Given the description of an element on the screen output the (x, y) to click on. 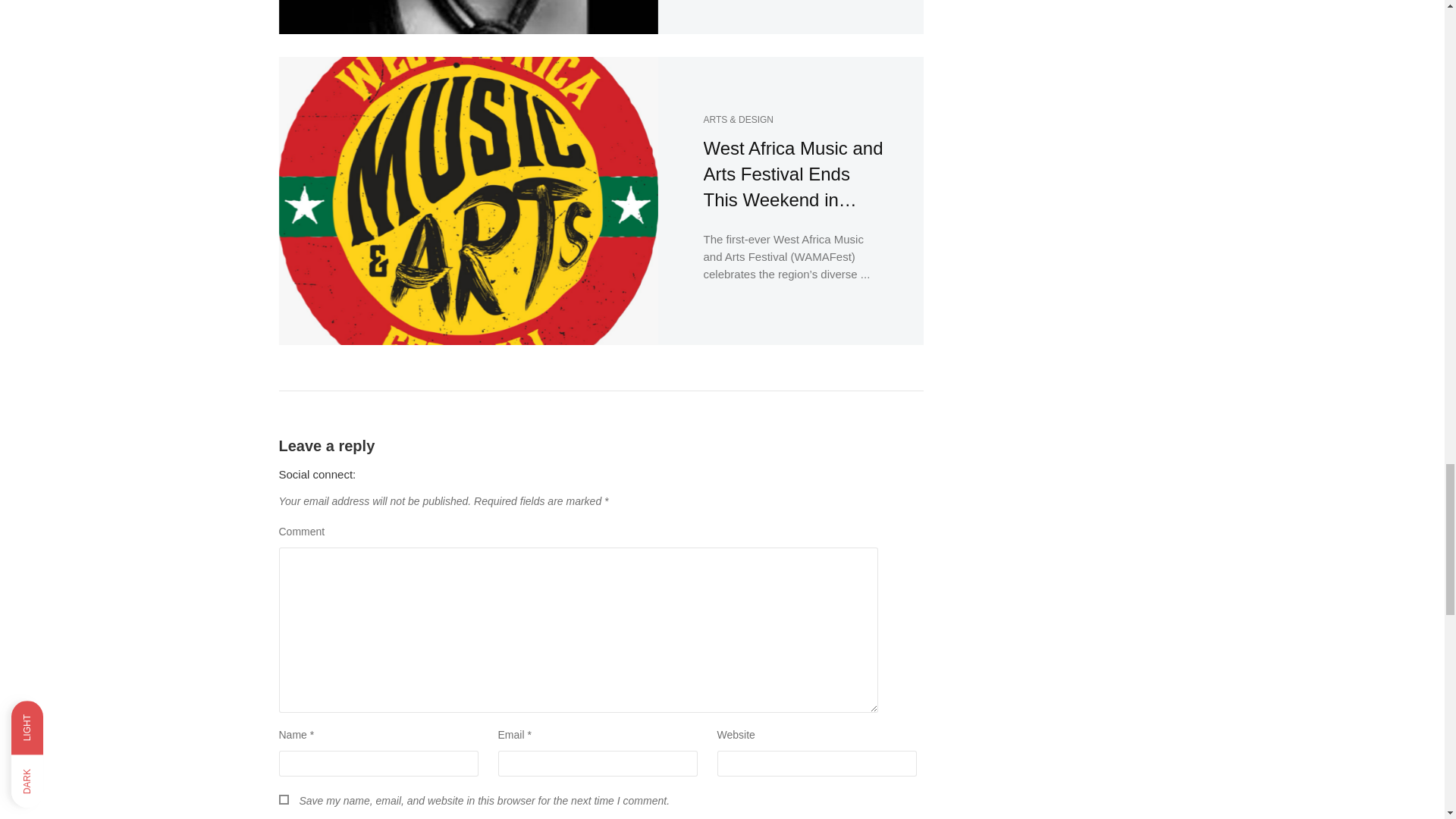
yes (283, 799)
